Given the description of an element on the screen output the (x, y) to click on. 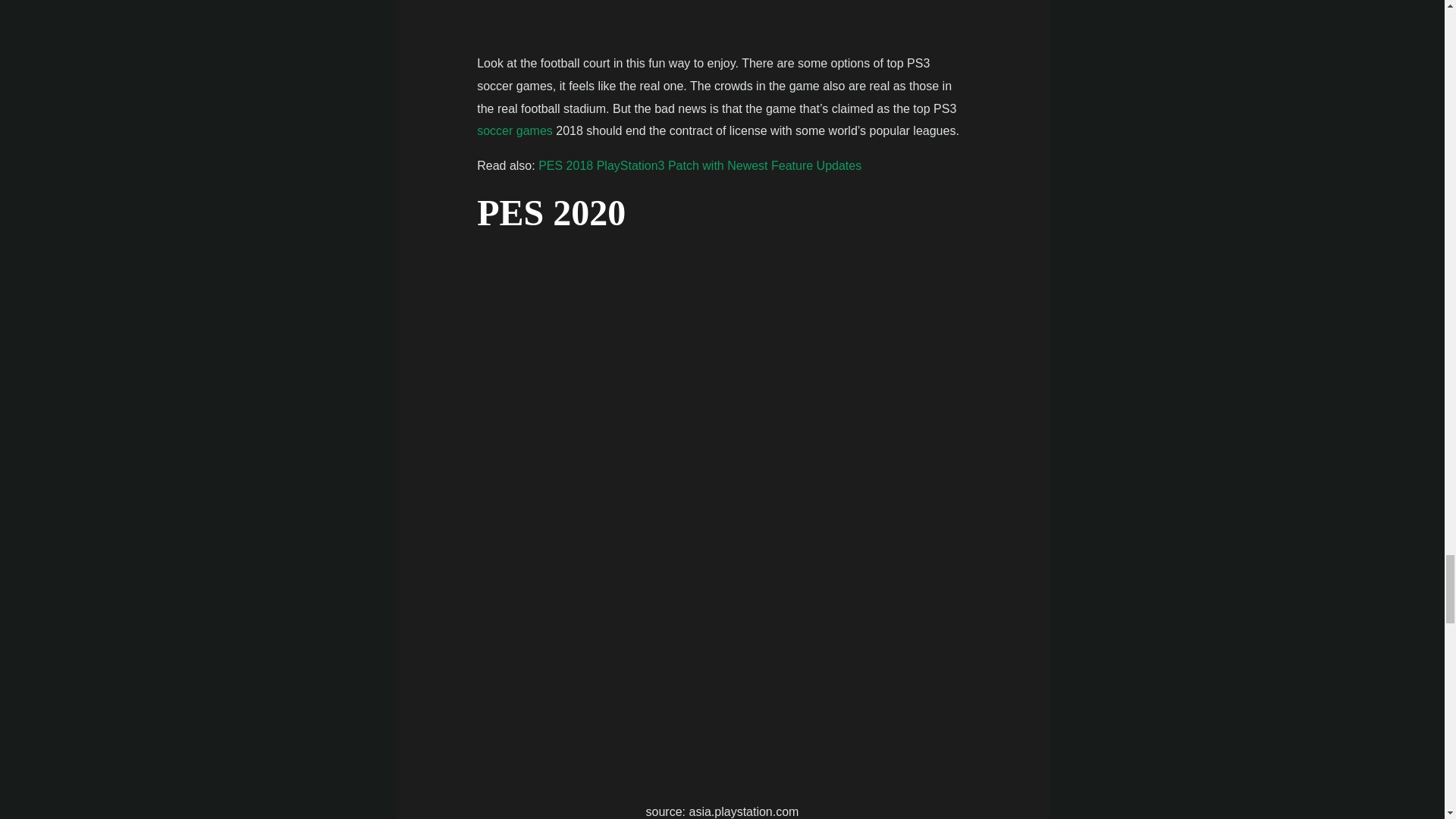
PES 2018 PlayStation3 Patch with Newest Feature Updates (699, 164)
soccer games (515, 130)
